Given the description of an element on the screen output the (x, y) to click on. 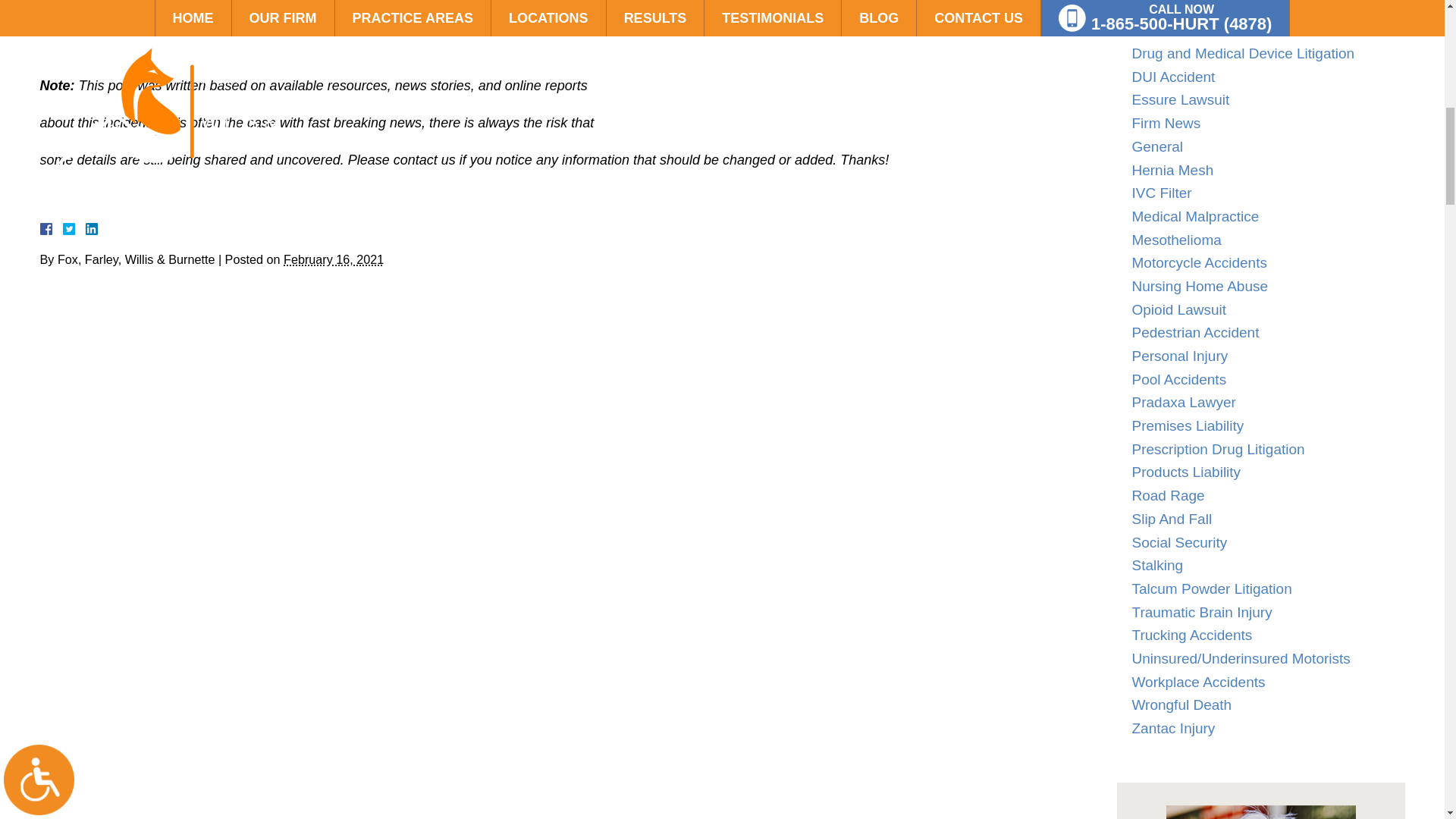
LinkedIn (85, 228)
Facebook (63, 228)
2021-02-16T04:31:51-0800 (333, 259)
Bruce Fox (1260, 812)
Twitter (74, 228)
